Given the description of an element on the screen output the (x, y) to click on. 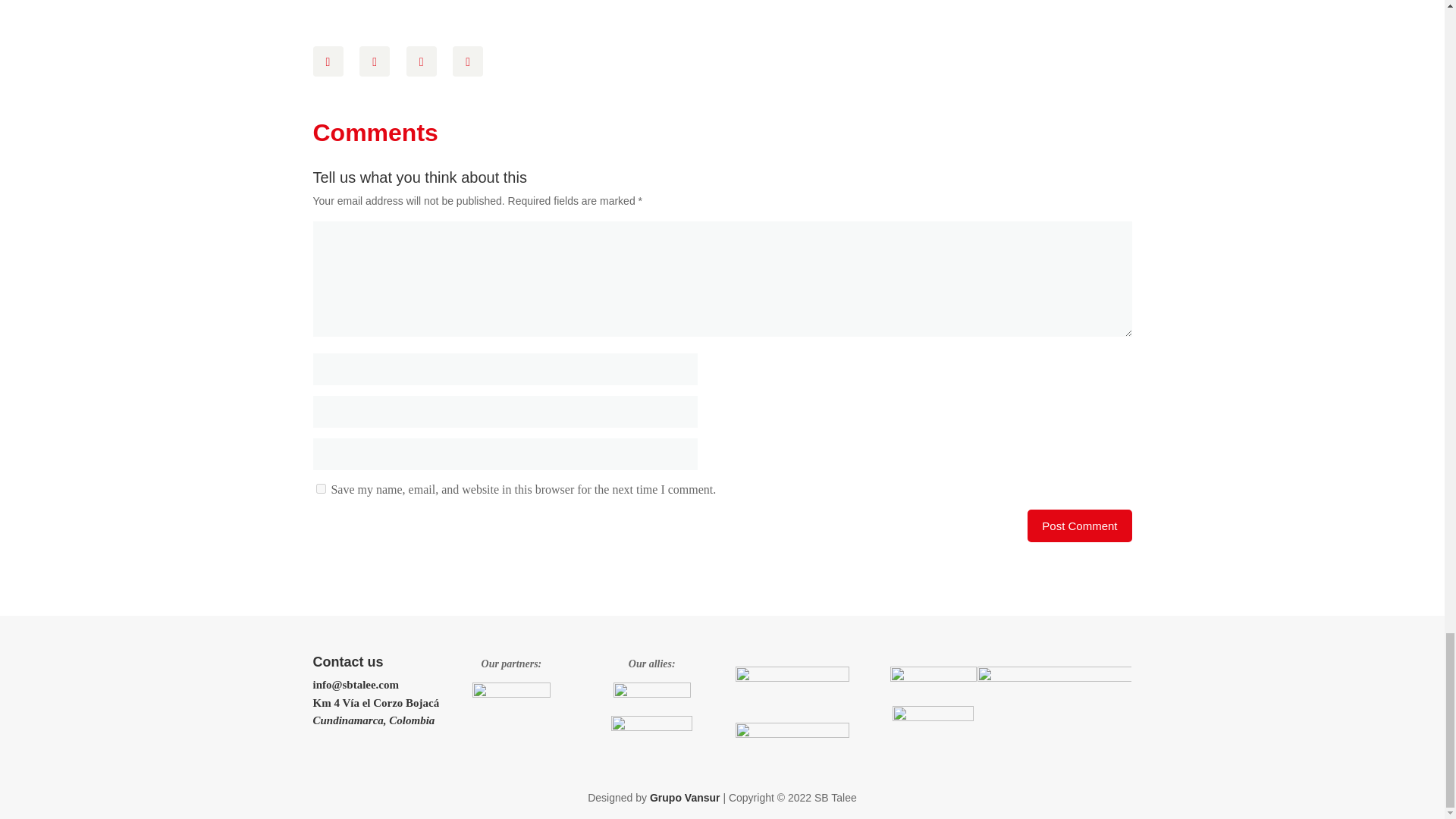
yes (319, 488)
